Given the description of an element on the screen output the (x, y) to click on. 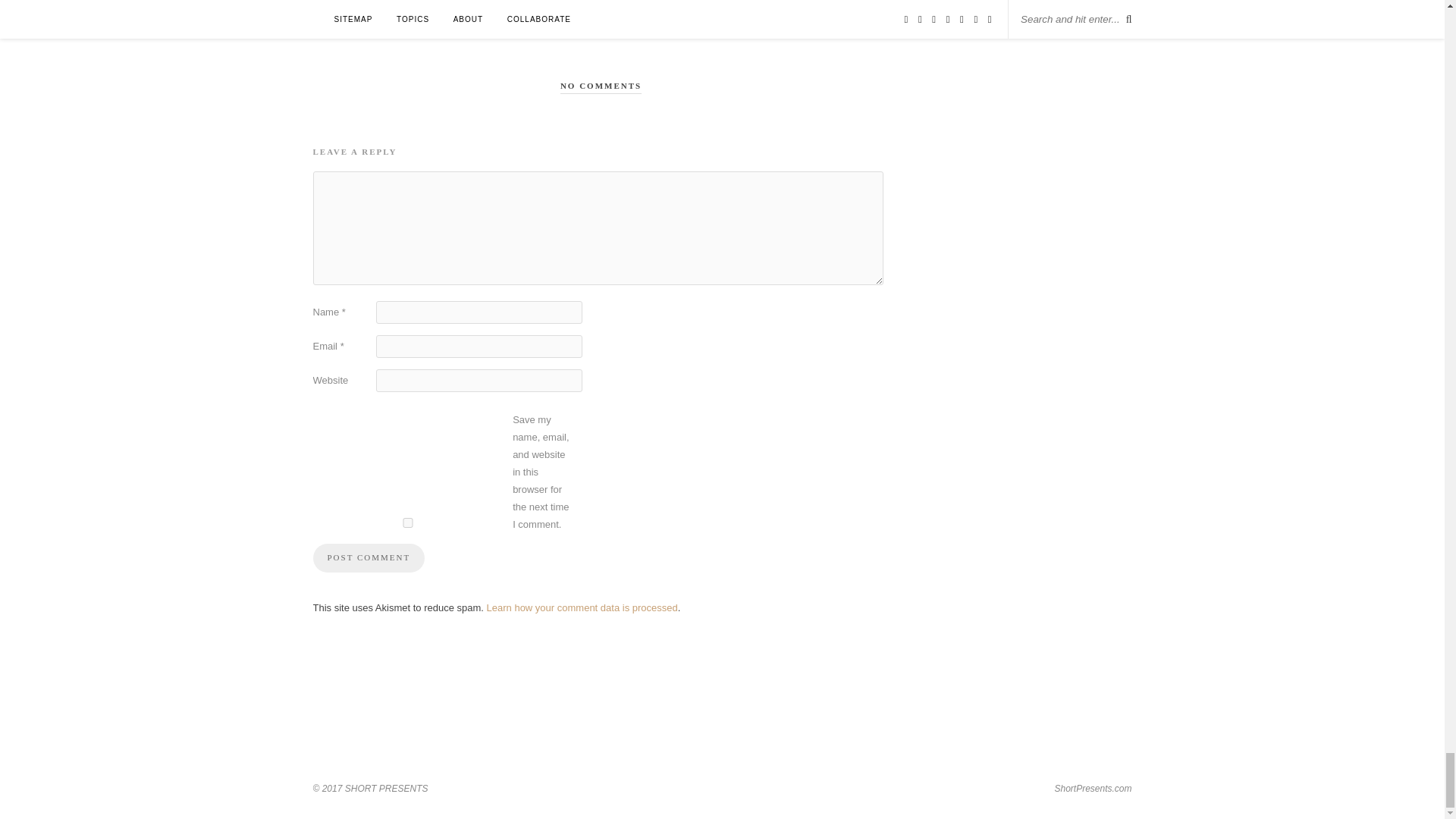
yes (407, 522)
Post Comment (369, 557)
